Given the description of an element on the screen output the (x, y) to click on. 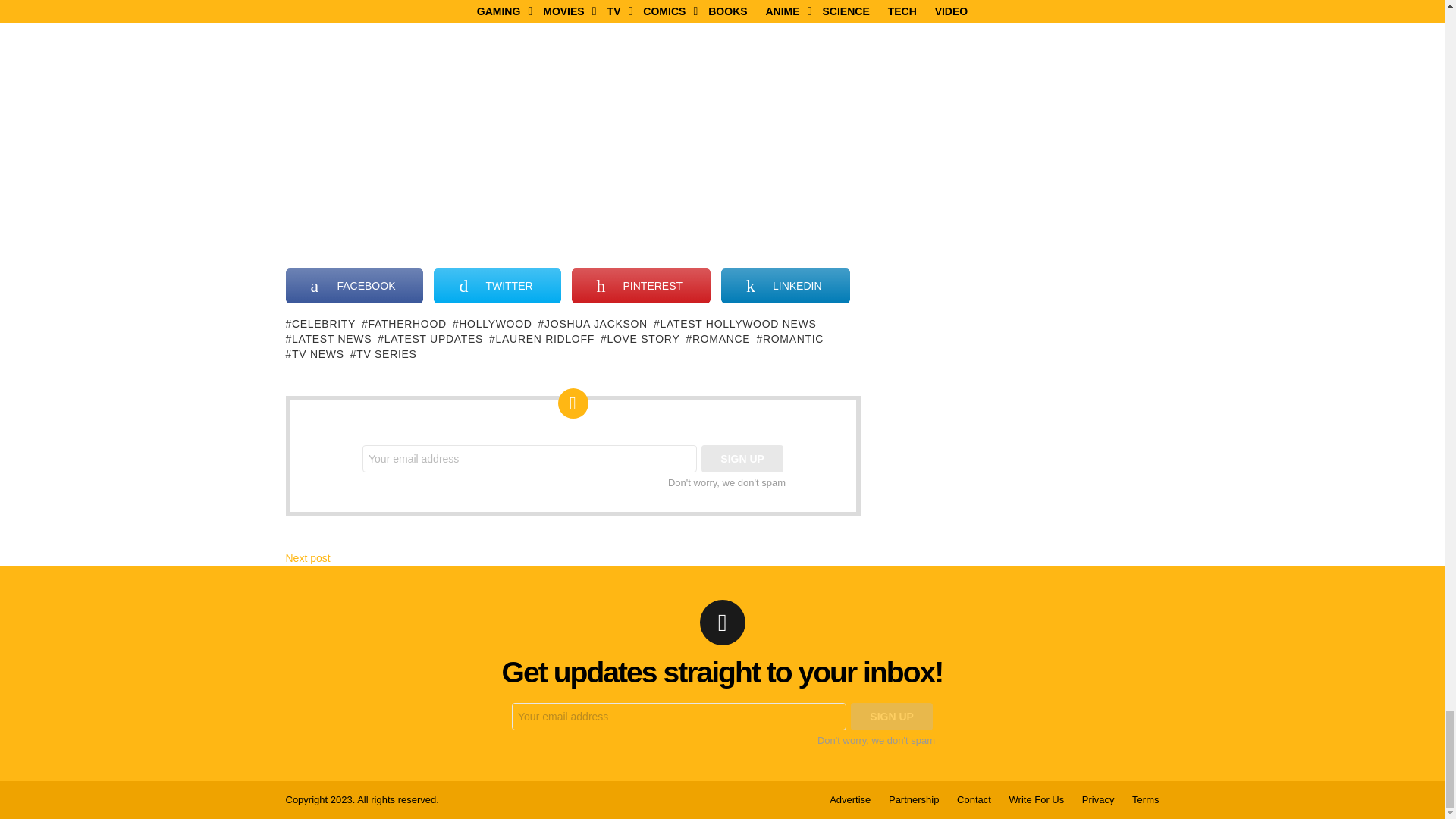
Sign up (742, 458)
Sign up (891, 716)
Share on Twitter (496, 285)
Share on Facebook (354, 285)
